Given the description of an element on the screen output the (x, y) to click on. 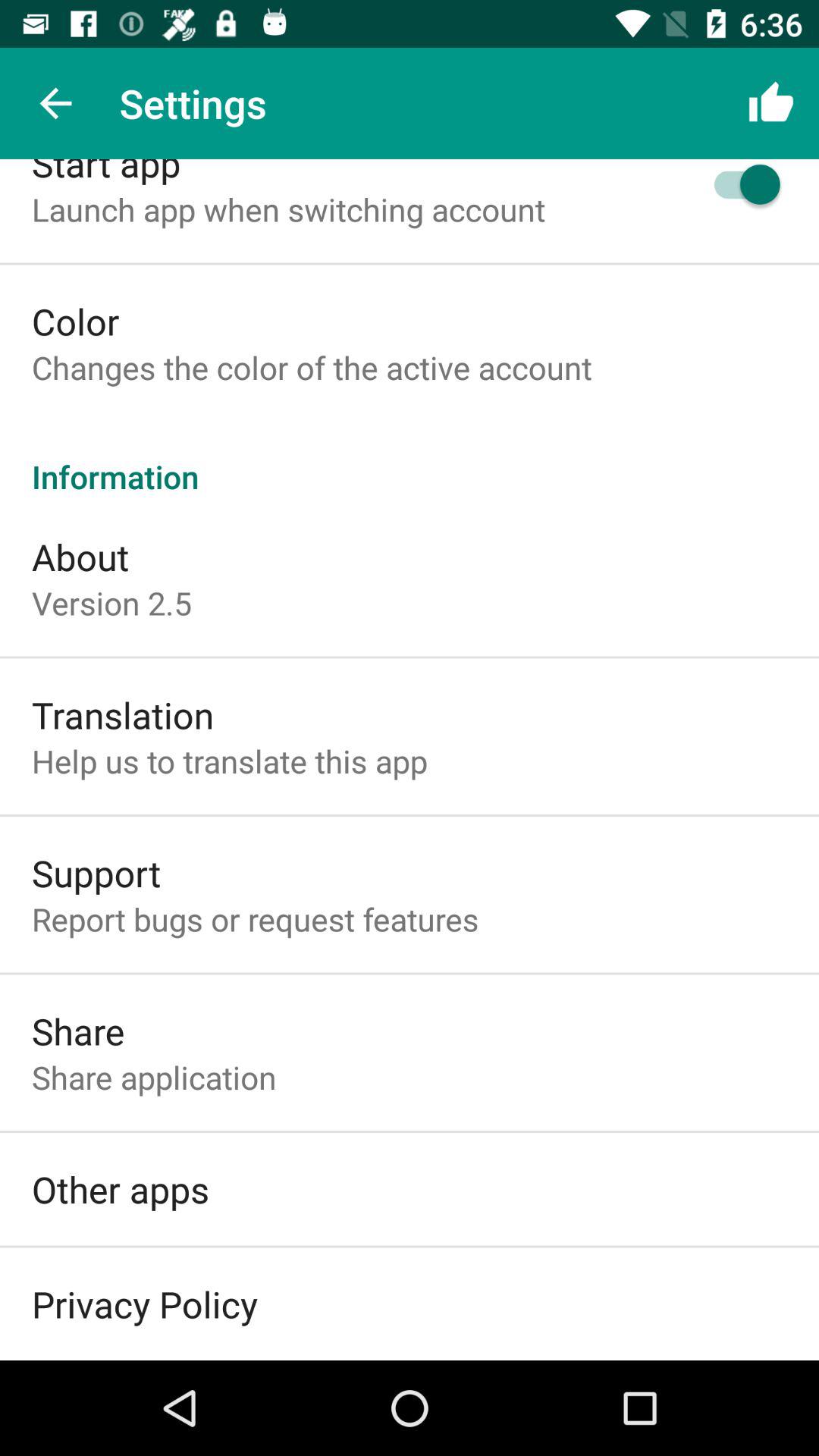
turn off icon above the start app icon (55, 103)
